Given the description of an element on the screen output the (x, y) to click on. 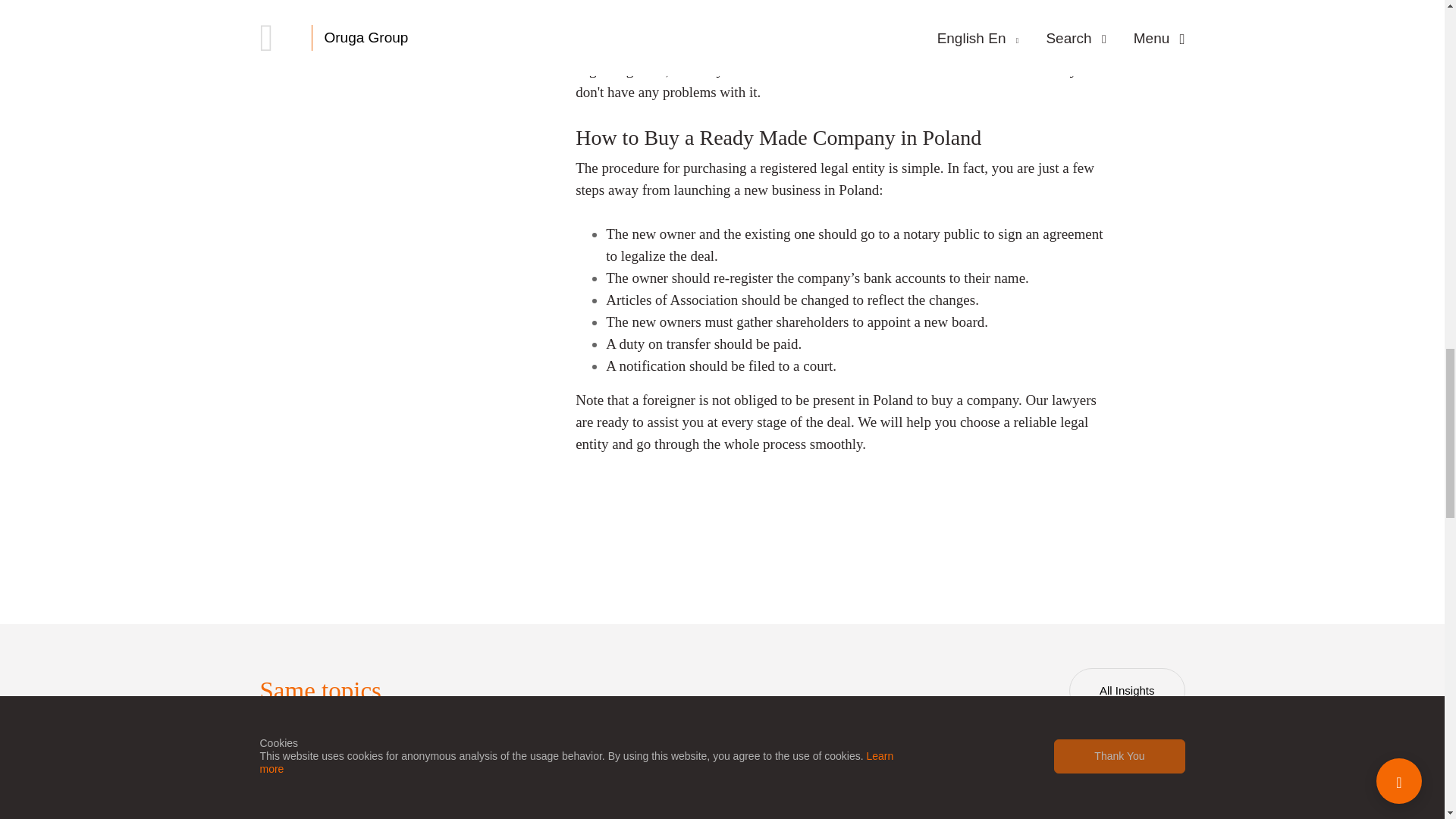
All Insights (1126, 690)
ready made company in Poland (814, 6)
